Given the description of an element on the screen output the (x, y) to click on. 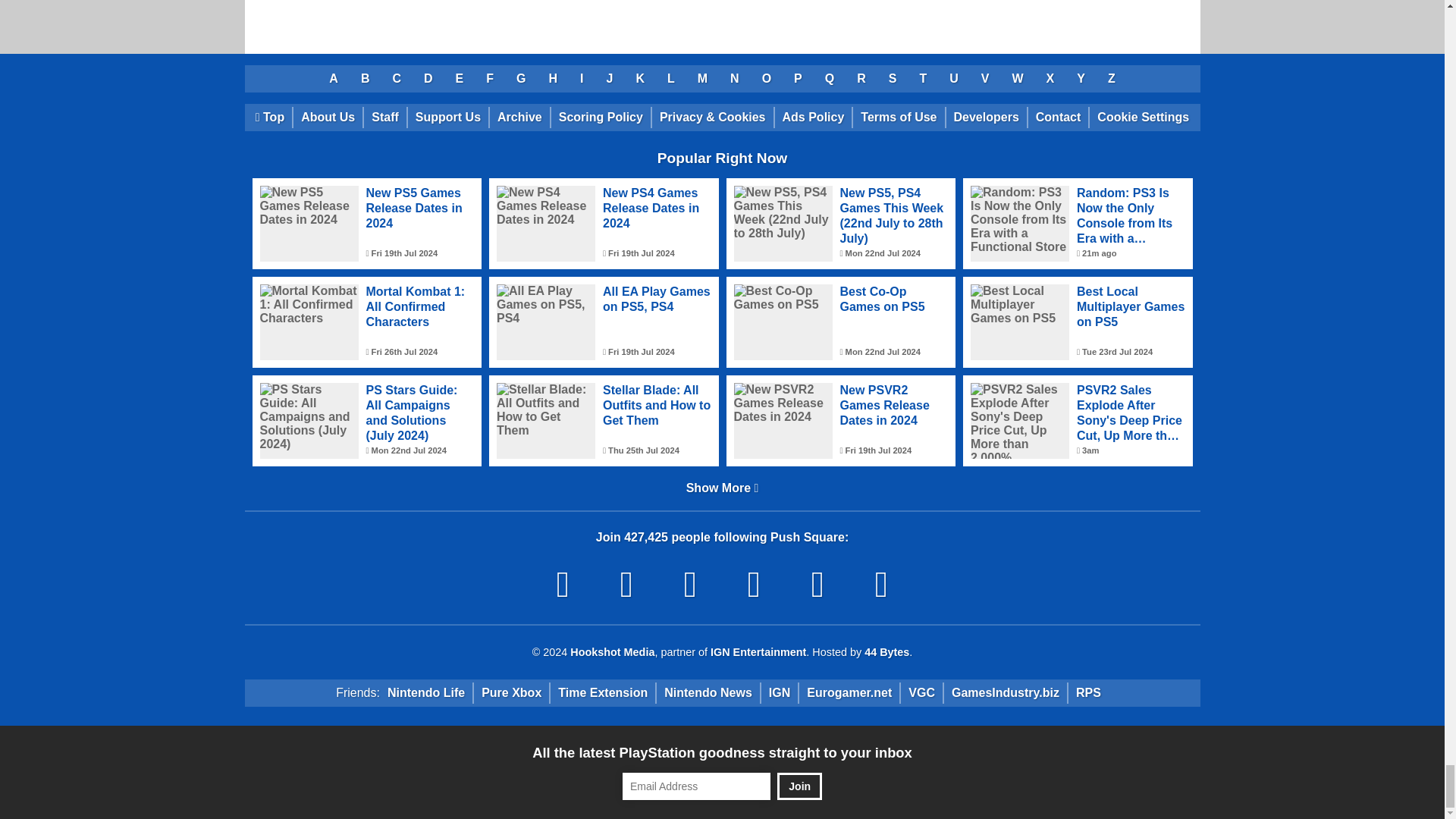
Join (799, 786)
